Given the description of an element on the screen output the (x, y) to click on. 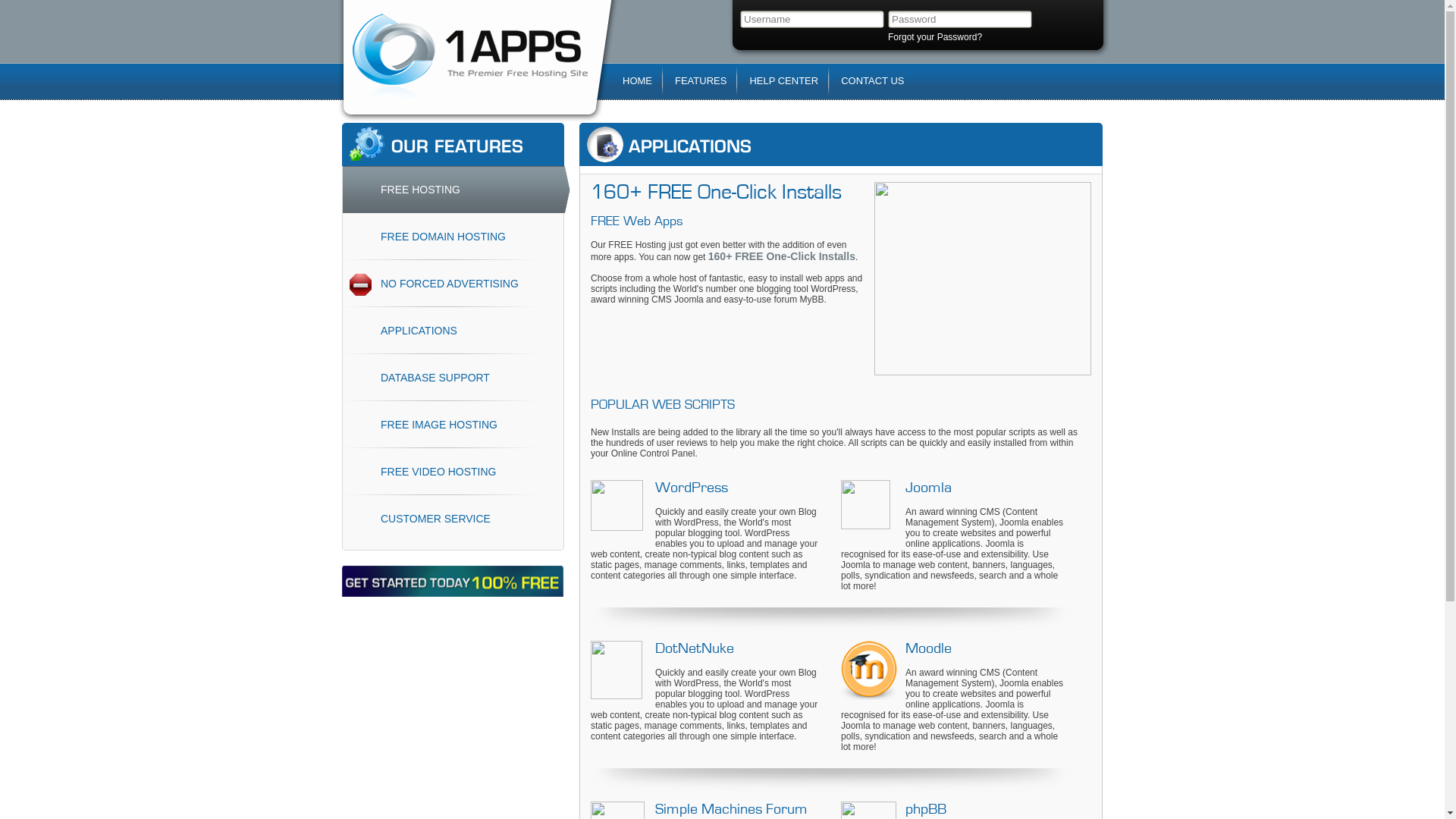
FEATURES Element type: text (700, 80)
CONTACT US Element type: text (871, 80)
CUSTOMER SERVICE Element type: text (456, 518)
HOME Element type: text (637, 80)
DATABASE SUPPORT Element type: text (456, 377)
FREE VIDEO HOSTING Element type: text (456, 471)
APPLICATIONS Element type: text (456, 330)
FREE HOSTING Element type: text (456, 189)
NO FORCED ADVERTISING Element type: text (456, 283)
FREE DOMAIN HOSTING Element type: text (456, 236)
Forgot your Password? Element type: text (935, 36)
FREE IMAGE HOSTING Element type: text (456, 424)
HELP CENTER Element type: text (783, 80)
